Given the description of an element on the screen output the (x, y) to click on. 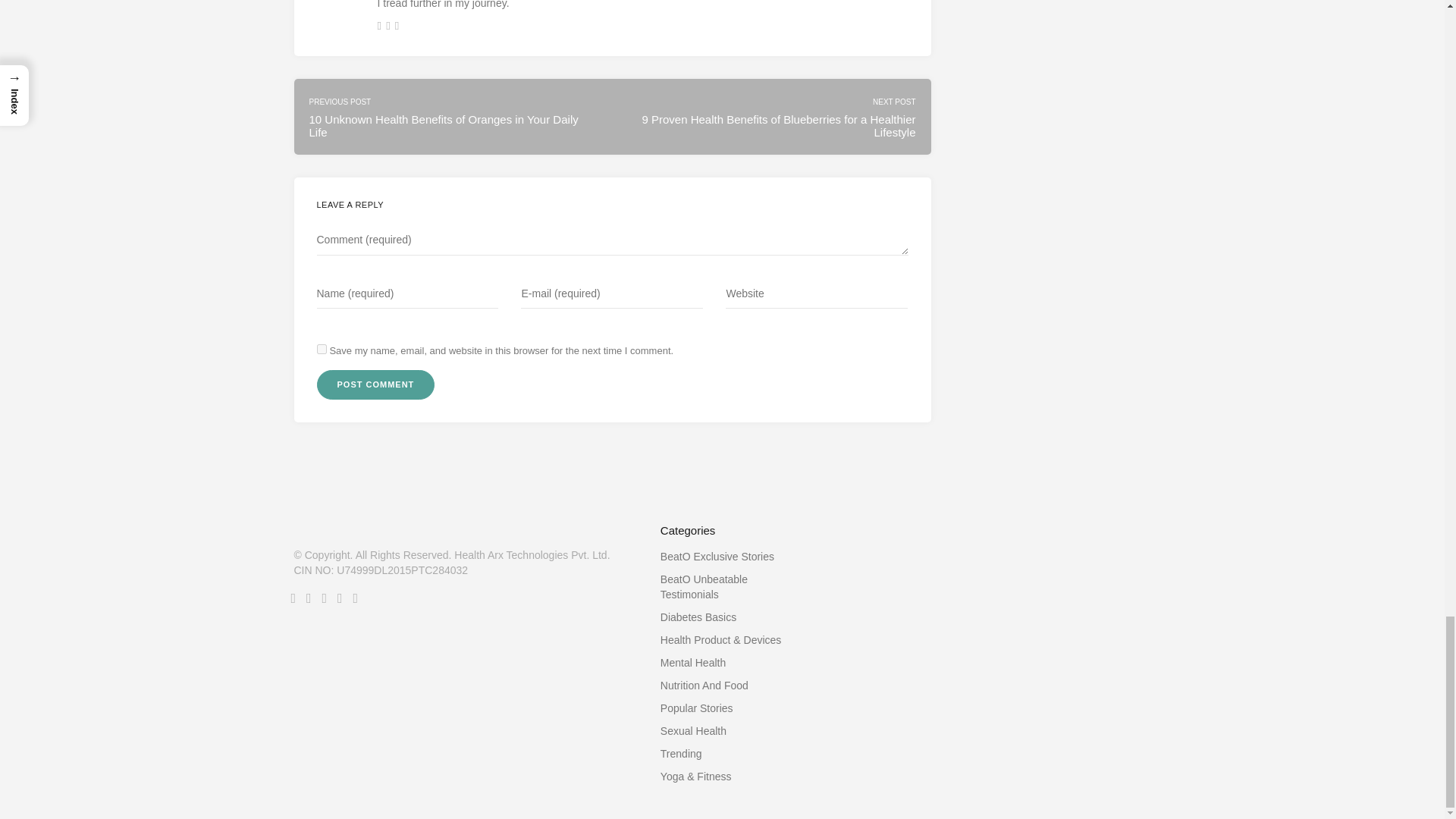
yes (321, 348)
Post Comment (376, 384)
